Given the description of an element on the screen output the (x, y) to click on. 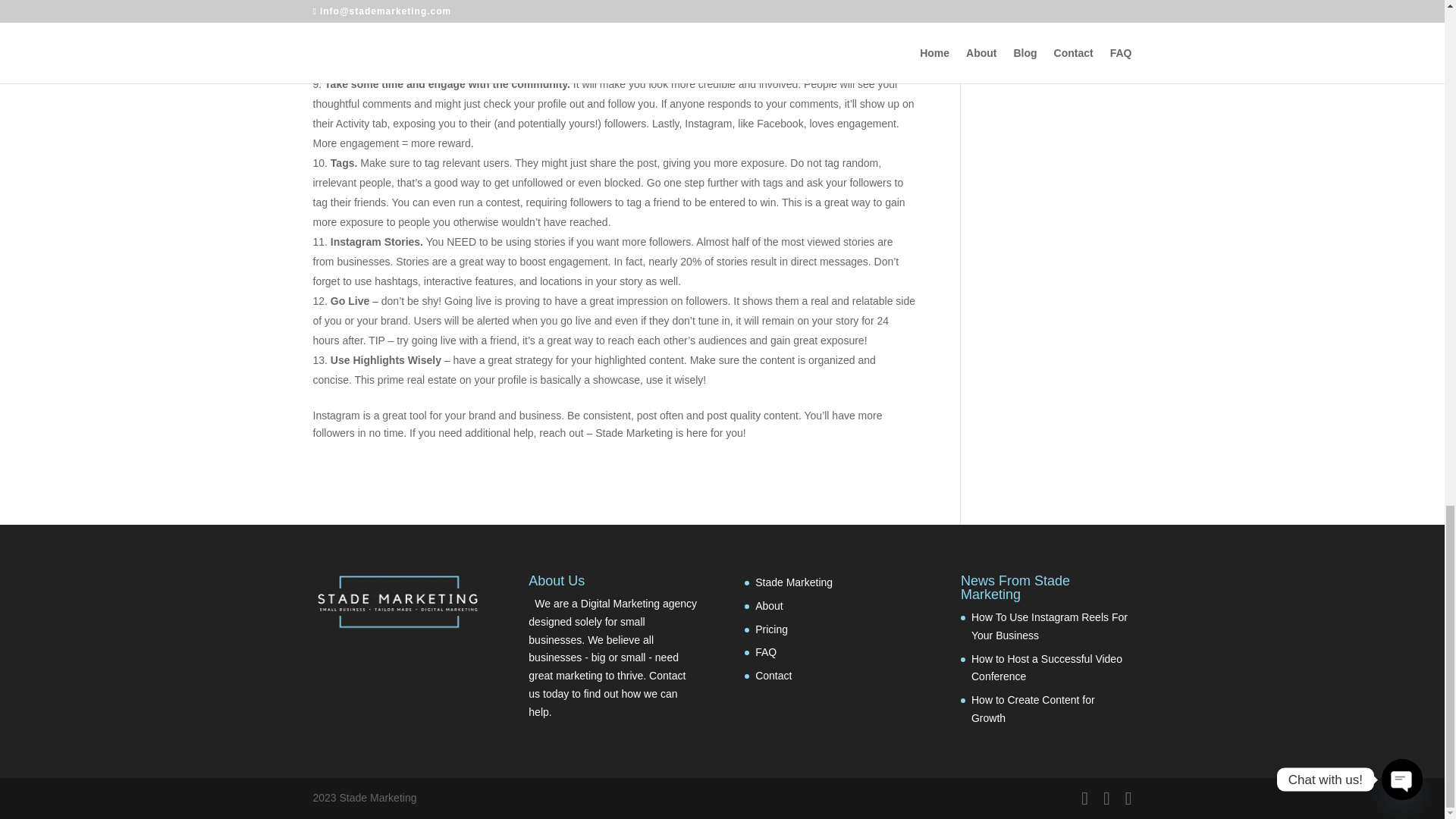
About (769, 605)
Pricing (771, 629)
How to Host a Successful Video Conference (1046, 667)
How to Create Content for Growth (1032, 708)
Stade Marketing (793, 582)
How To Use Instagram Reels For Your Business (1048, 625)
Contact (773, 675)
FAQ (765, 652)
